Given the description of an element on the screen output the (x, y) to click on. 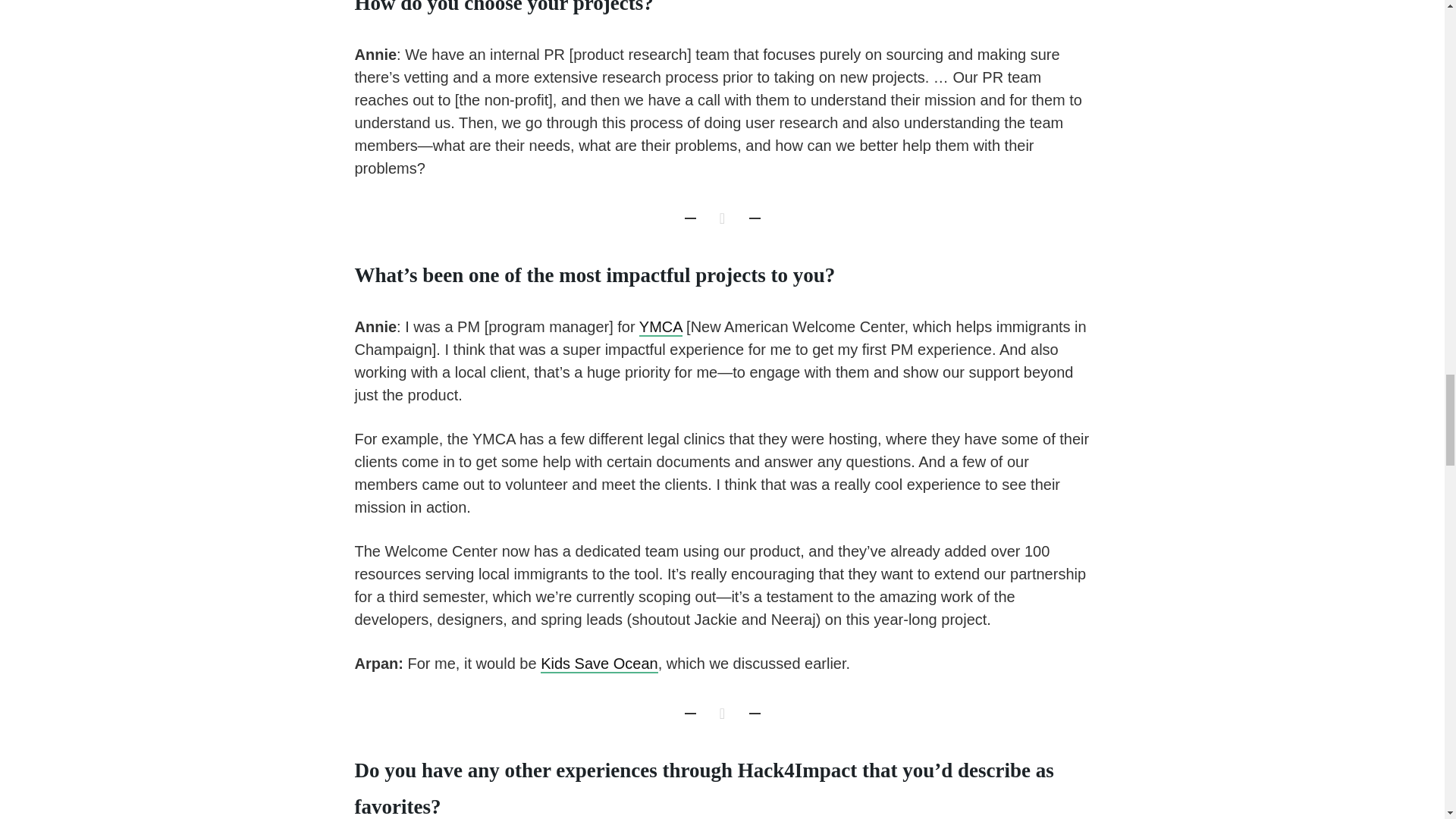
Kids Save Ocean (599, 664)
YMCA (660, 327)
